Given the description of an element on the screen output the (x, y) to click on. 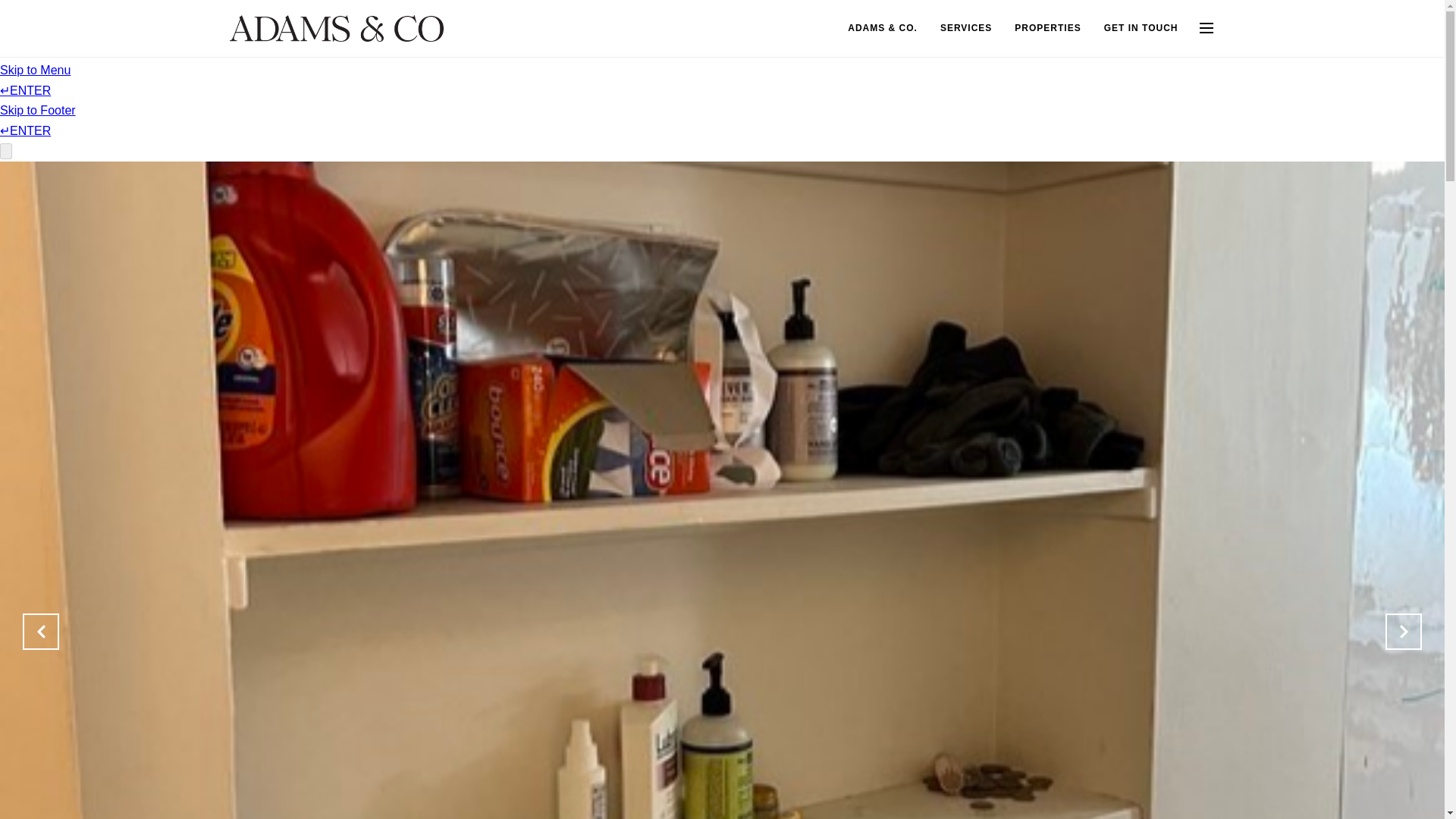
GET IN TOUCH (1140, 28)
